Given the description of an element on the screen output the (x, y) to click on. 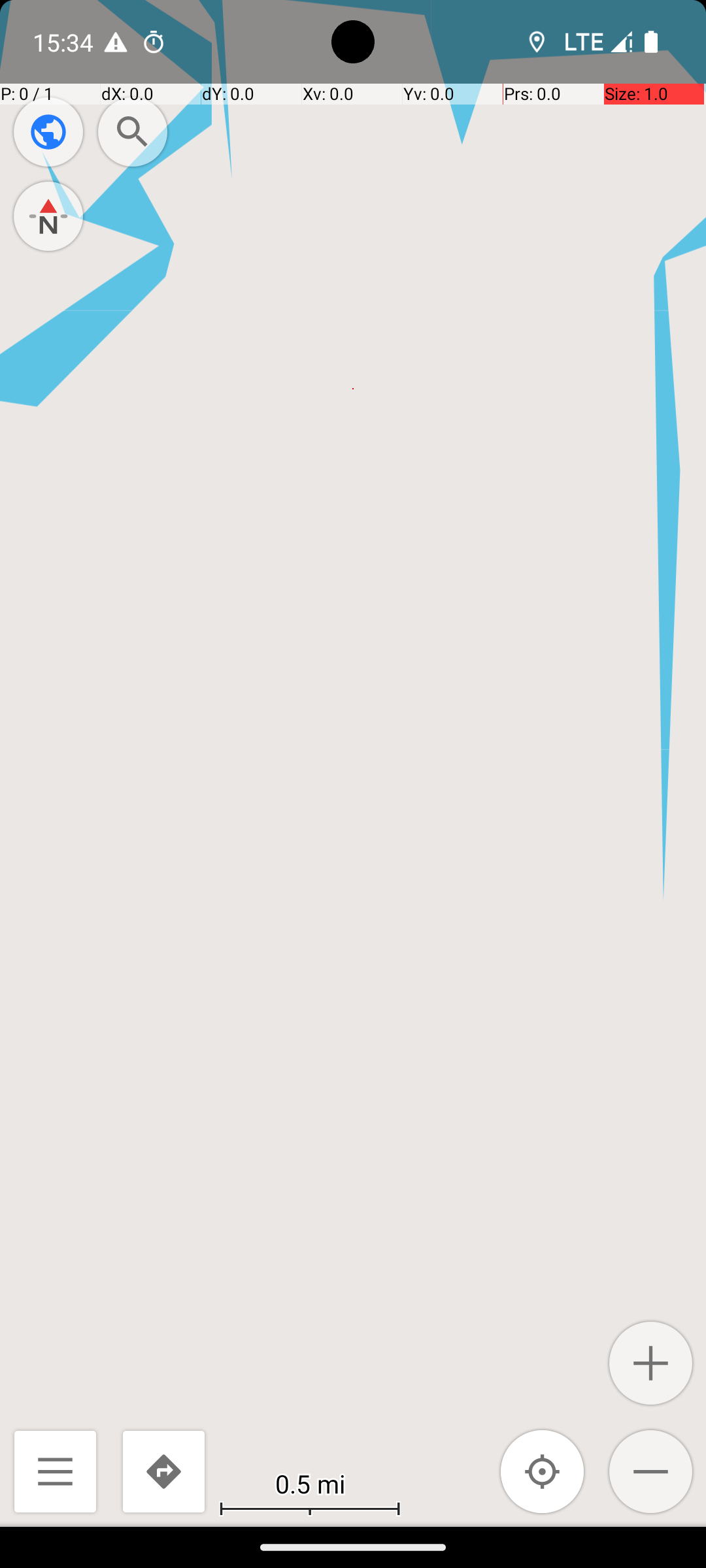
0.5 mi Element type: android.widget.TextView (309, 1483)
Map linked to location Element type: android.widget.ImageButton (542, 1471)
